Given the description of an element on the screen output the (x, y) to click on. 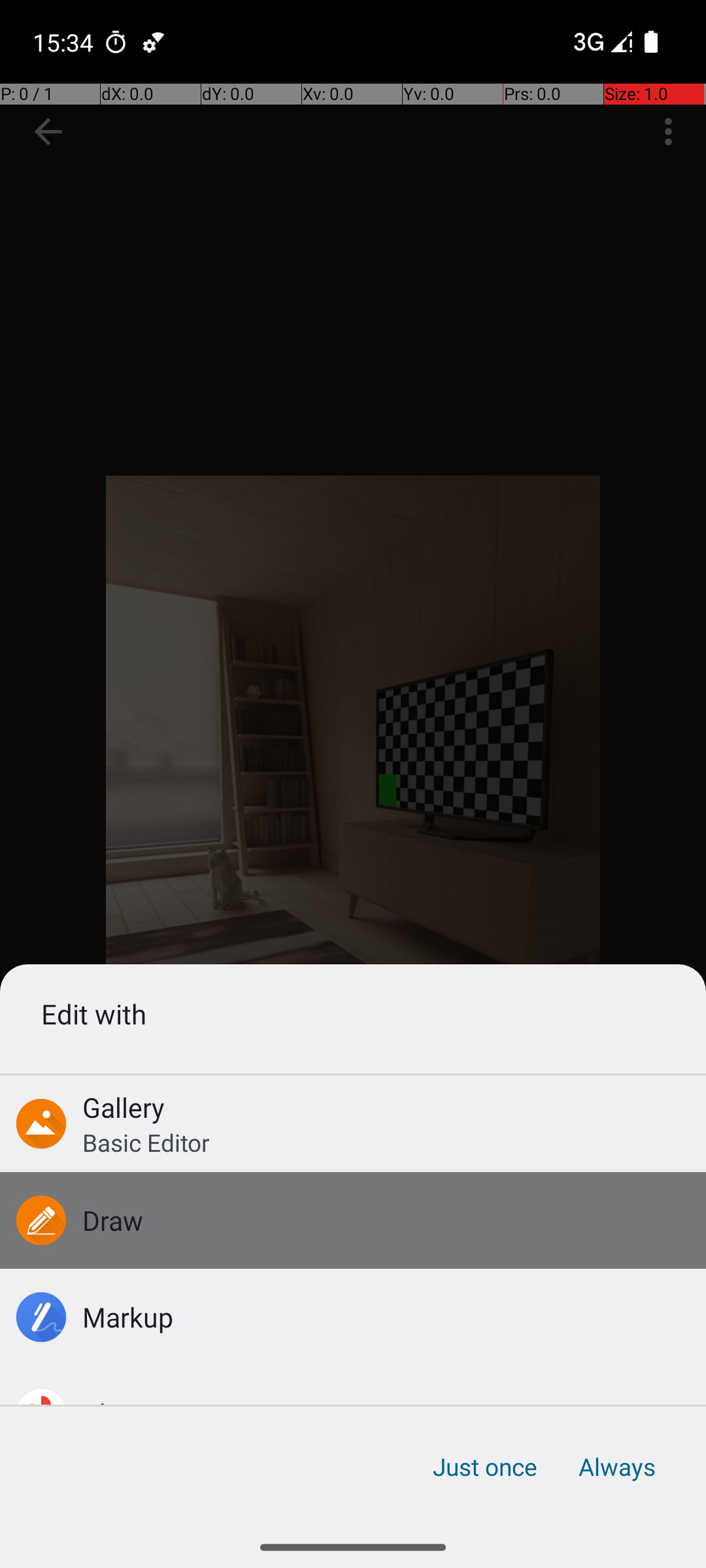
Edit with Element type: android.widget.TextView (352, 1013)
Basic Editor Element type: android.widget.TextView (146, 1142)
Markup Element type: android.widget.TextView (127, 1316)
Android System notification: Wi‑Fi will turn on automatically Element type: android.widget.ImageView (153, 41)
